Given the description of an element on the screen output the (x, y) to click on. 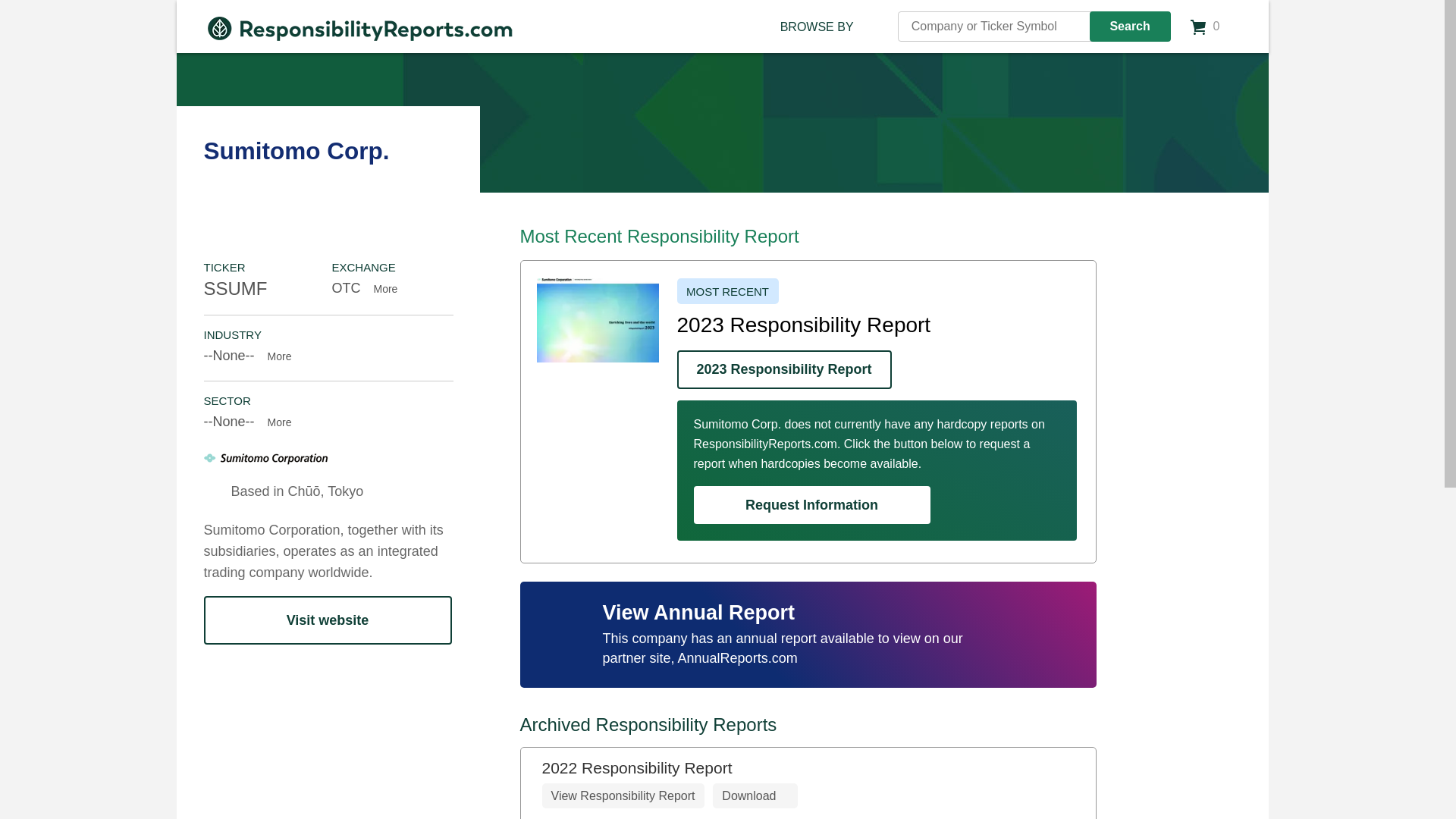
More (283, 422)
More (283, 356)
Sumitomo Corp. (598, 320)
Download (754, 795)
Request Information (811, 505)
More (388, 288)
BROWSE BY (816, 26)
2023 Responsibility Report (784, 369)
Visit website (327, 620)
View Responsibility Report (622, 795)
Search (1129, 26)
Search (1129, 26)
